Given the description of an element on the screen output the (x, y) to click on. 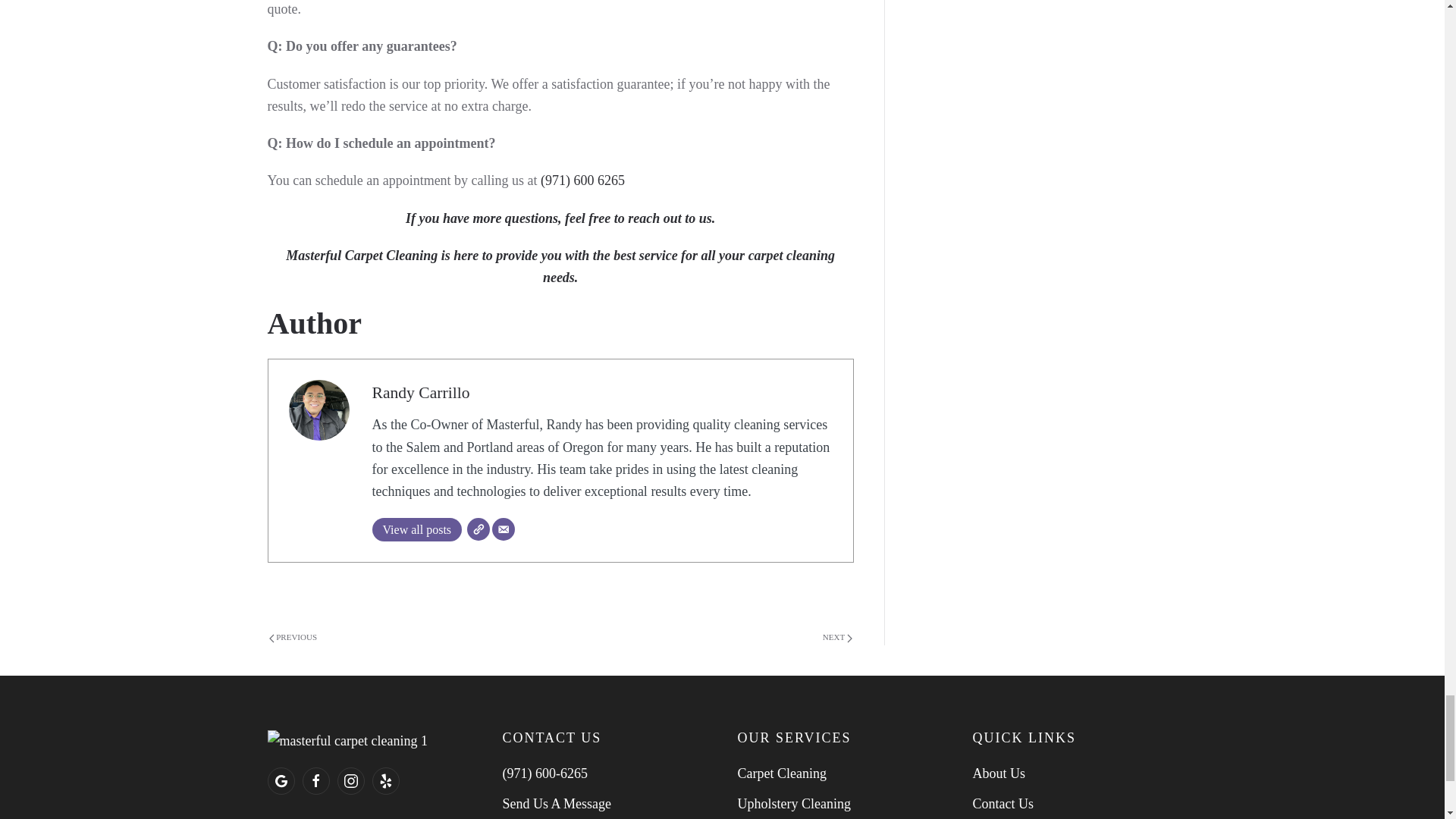
Randy Carrillo (419, 393)
View all posts (416, 529)
